Given the description of an element on the screen output the (x, y) to click on. 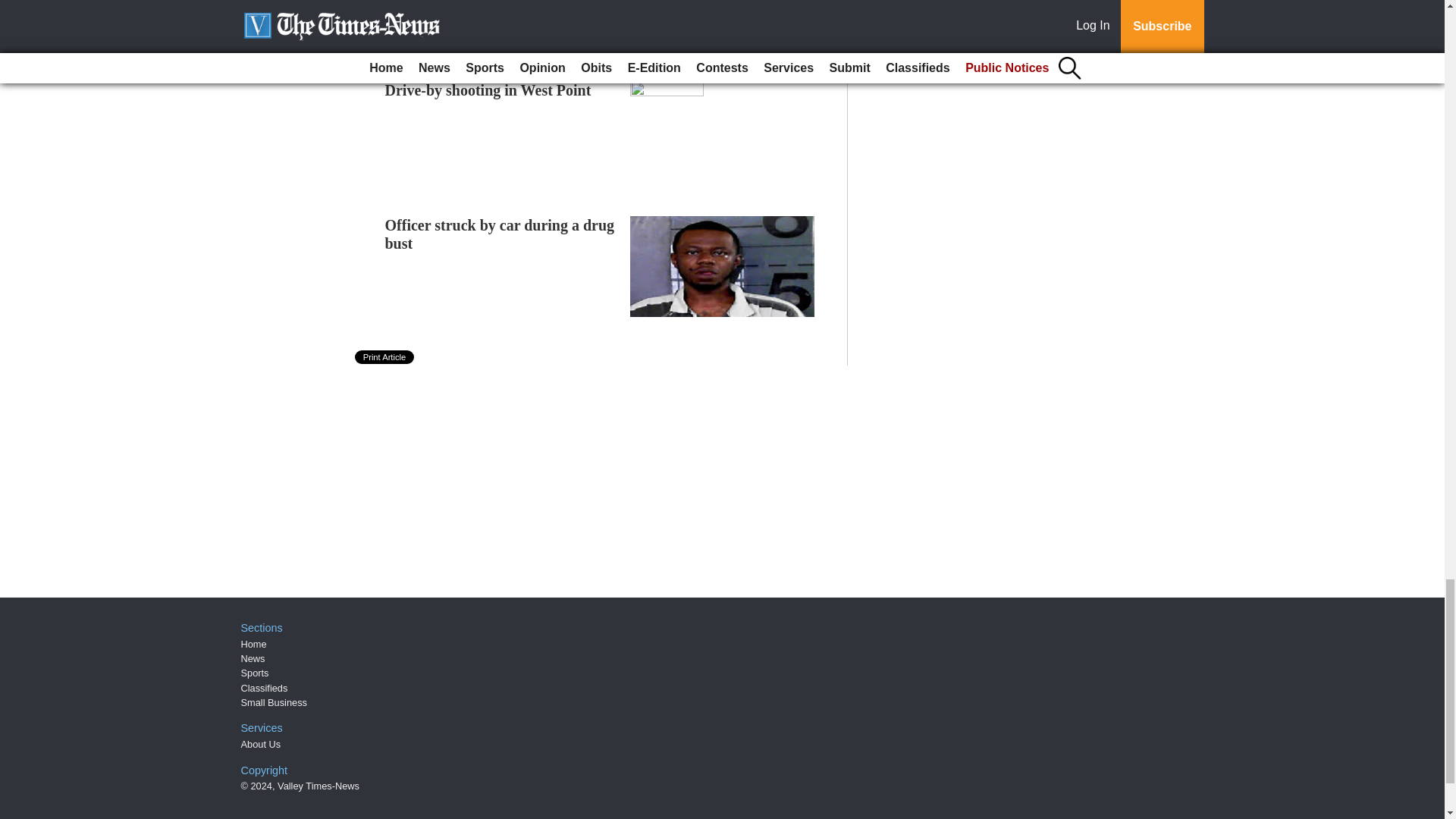
Print Article (384, 356)
Home (253, 644)
Officer struck by car during a drug bust (499, 234)
Drive-by shooting in West Point (488, 89)
News (252, 658)
Sports (255, 672)
Drive-by shooting in West Point (488, 89)
Officer struck by car during a drug bust (499, 234)
Classifieds (264, 687)
